Given the description of an element on the screen output the (x, y) to click on. 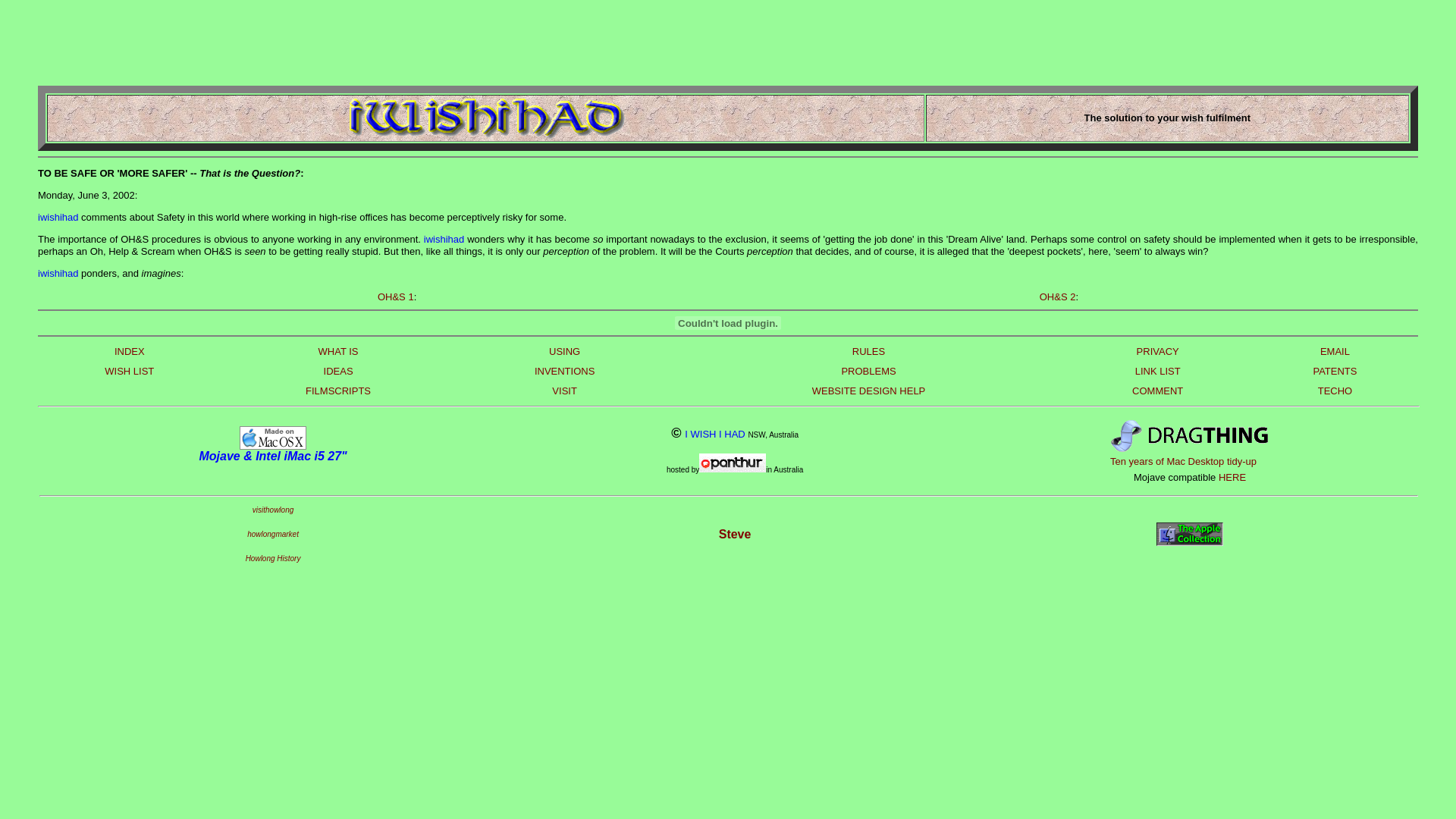
LINK LIST Element type: text (1157, 370)
RULES Element type: text (868, 351)
see what's coming and gone Element type: hover (1189, 542)
COMMENT Element type: text (1157, 390)
Ten years of Mac Desktop tidy-up Element type: text (1183, 460)
EMAIL Element type: text (1334, 351)
WEBSITE DESIGN HELP Element type: text (868, 390)
panthur hosting Element type: hover (732, 469)
about DRAGTHING Element type: hover (1207, 441)
PATENTS Element type: text (1334, 370)
howlongmarket

Howlong History Element type: text (273, 545)
IDEAS Element type: text (338, 370)
HERE Element type: text (1231, 477)
OH&S 1 Element type: text (395, 296)
Apple's Unix based GUI Element type: hover (272, 444)
FILMSCRIPTS Element type: text (337, 390)
INVENTIONS Element type: text (564, 370)
OH&S 2 Element type: text (1057, 296)
TECHO Element type: text (1334, 390)
INDEX Element type: text (129, 351)
WHAT IS Element type: text (338, 351)
DRAGTHING Element type: hover (1126, 448)
PRIVACY Element type: text (1157, 351)
USING Element type: text (564, 351)
WISH LIST Element type: text (128, 370)
visithowlong Element type: text (272, 515)
Advertisement Element type: hover (313, 41)
Steve Element type: text (734, 533)
PROBLEMS Element type: text (867, 370)
VISIT Element type: text (564, 390)
